Given the description of an element on the screen output the (x, y) to click on. 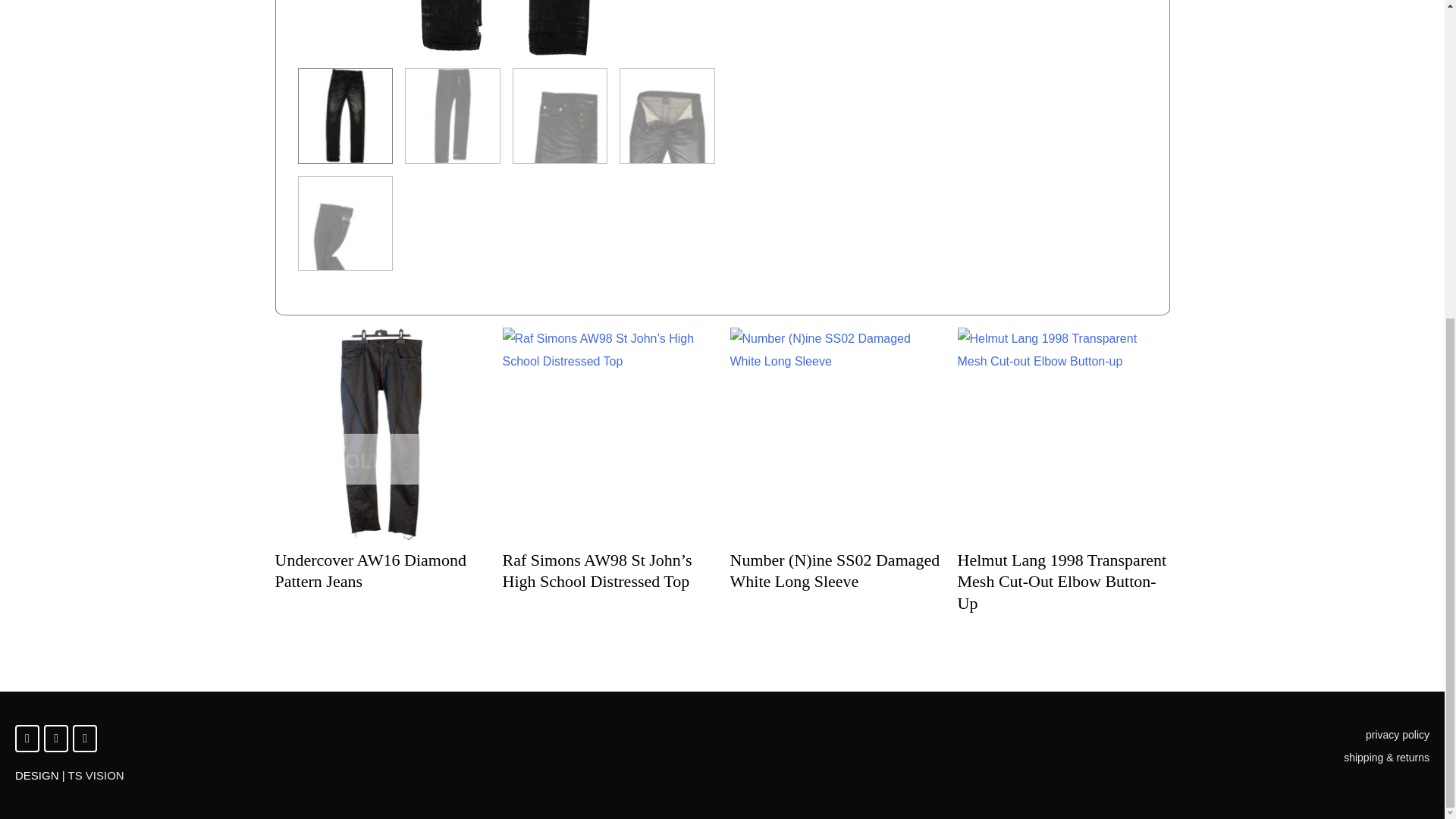
Email Archive Vault Store (84, 738)
Archive Vault Store on Facebook (55, 738)
